Given the description of an element on the screen output the (x, y) to click on. 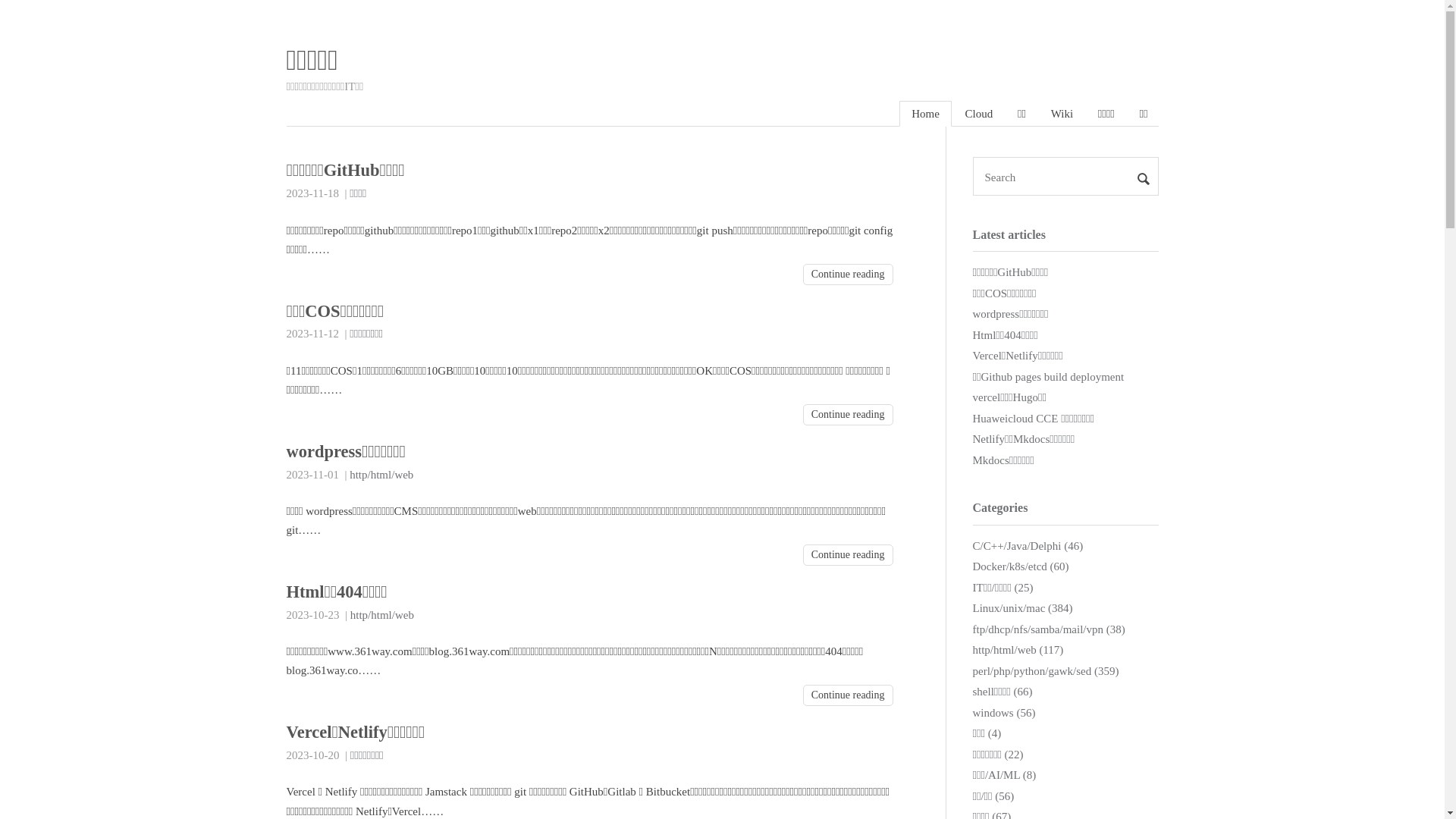
Home Element type: text (925, 113)
Cloud Element type: text (978, 113)
Continue reading Element type: text (848, 695)
Linux/unix/mac (384) Element type: text (1022, 608)
Continue reading Element type: text (848, 554)
ftp/dhcp/nfs/samba/mail/vpn (38) Element type: text (1048, 629)
Docker/k8s/etcd (60) Element type: text (1020, 566)
http/html/web Element type: text (381, 474)
C/C++/Java/Delphi (46) Element type: text (1027, 545)
http/html/web (117) Element type: text (1017, 649)
Continue reading Element type: text (848, 414)
Continue reading Element type: text (848, 274)
Categories Element type: text (999, 507)
http/html/web Element type: text (382, 614)
perl/php/python/gawk/sed (359) Element type: text (1045, 670)
windows (56) Element type: text (1003, 712)
Wiki Element type: text (1061, 113)
